Given the description of an element on the screen output the (x, y) to click on. 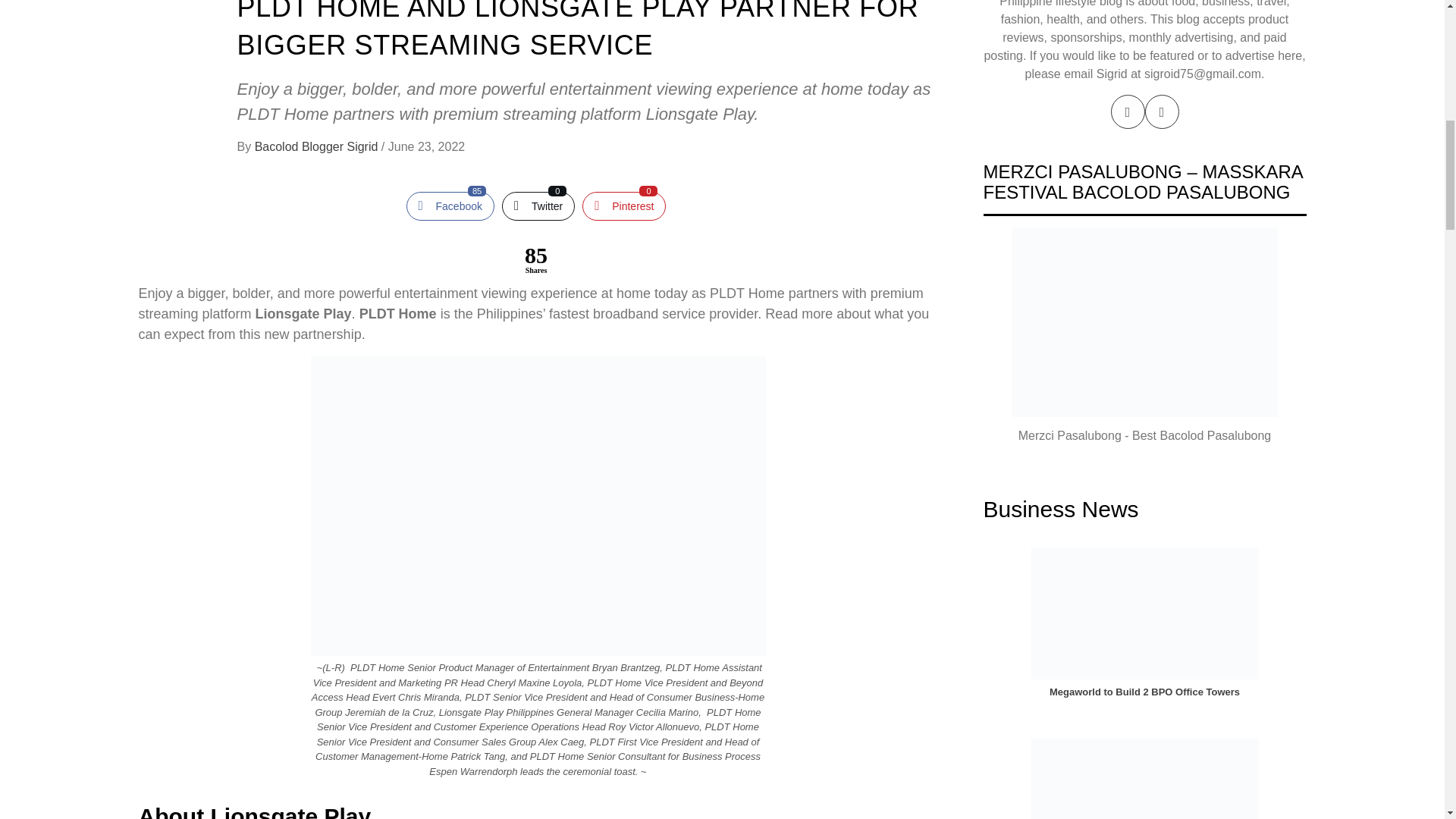
Bacolod Blogger Sigrid (450, 205)
